Given the description of an element on the screen output the (x, y) to click on. 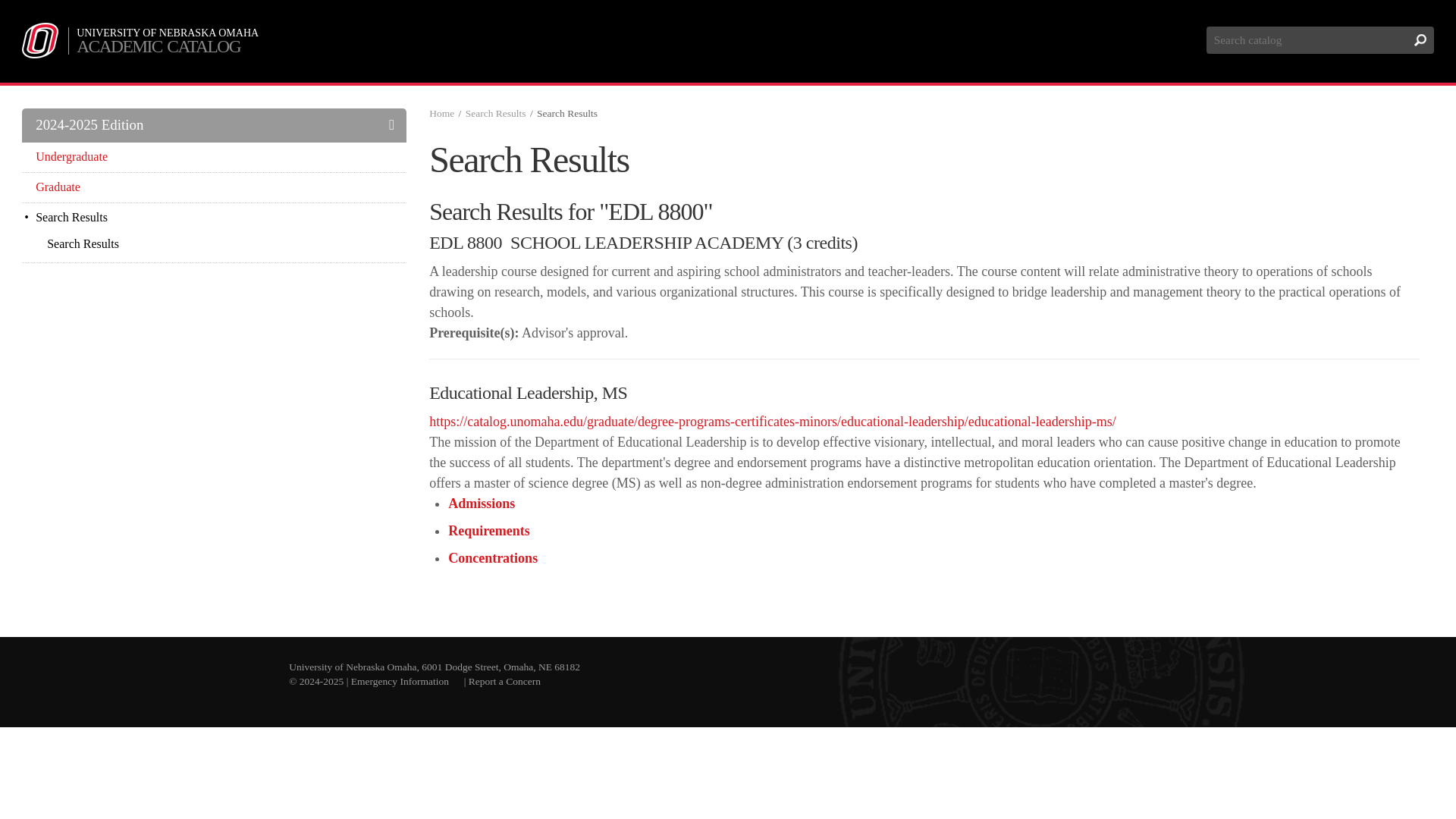
Requirements (488, 530)
Concentrations (492, 557)
ACADEMIC CATALOG (168, 46)
Graduate (213, 187)
UNIVERSITY OF NEBRASKA OMAHA (168, 32)
Admissions (481, 503)
Search Results (495, 112)
Search Catalog (1320, 40)
Report a Concern (504, 681)
Undergraduate (213, 156)
